Given the description of an element on the screen output the (x, y) to click on. 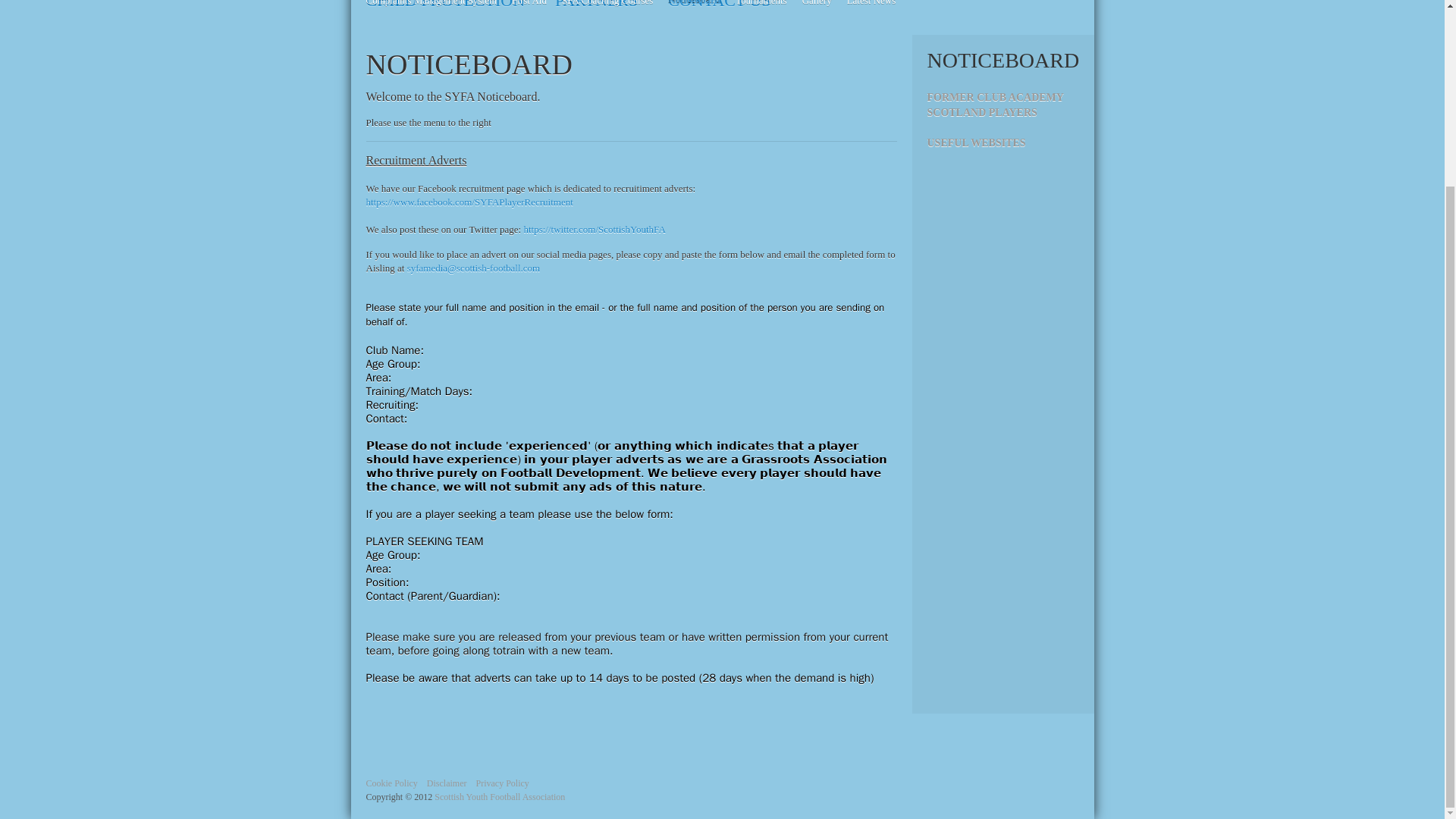
SFA Coaching Courses (607, 6)
Complaints Management System (430, 6)
CHILD PROTECTION (445, 7)
Gallery (817, 6)
Latest News (872, 6)
Noticeboard (694, 6)
CONTACT US (719, 7)
Tournaments (761, 6)
First Aid (528, 6)
